Given the description of an element on the screen output the (x, y) to click on. 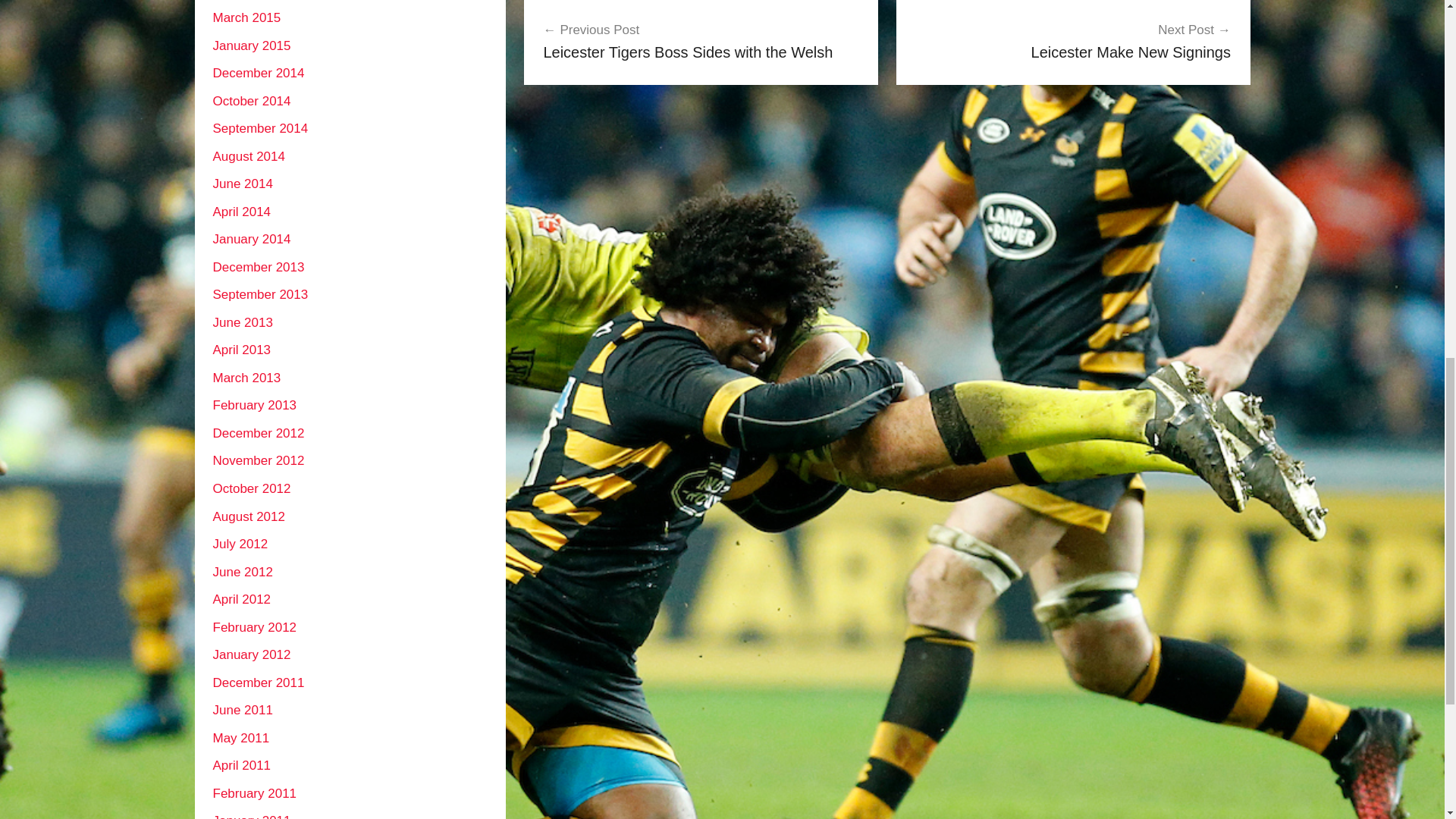
April 2014 (241, 211)
December 2014 (258, 73)
September 2013 (259, 294)
October 2014 (250, 101)
September 2014 (259, 128)
August 2014 (247, 156)
March 2015 (1072, 40)
January 2015 (246, 17)
March 2013 (250, 44)
January 2014 (246, 377)
April 2013 (250, 238)
June 2014 (701, 40)
June 2013 (241, 350)
